Given the description of an element on the screen output the (x, y) to click on. 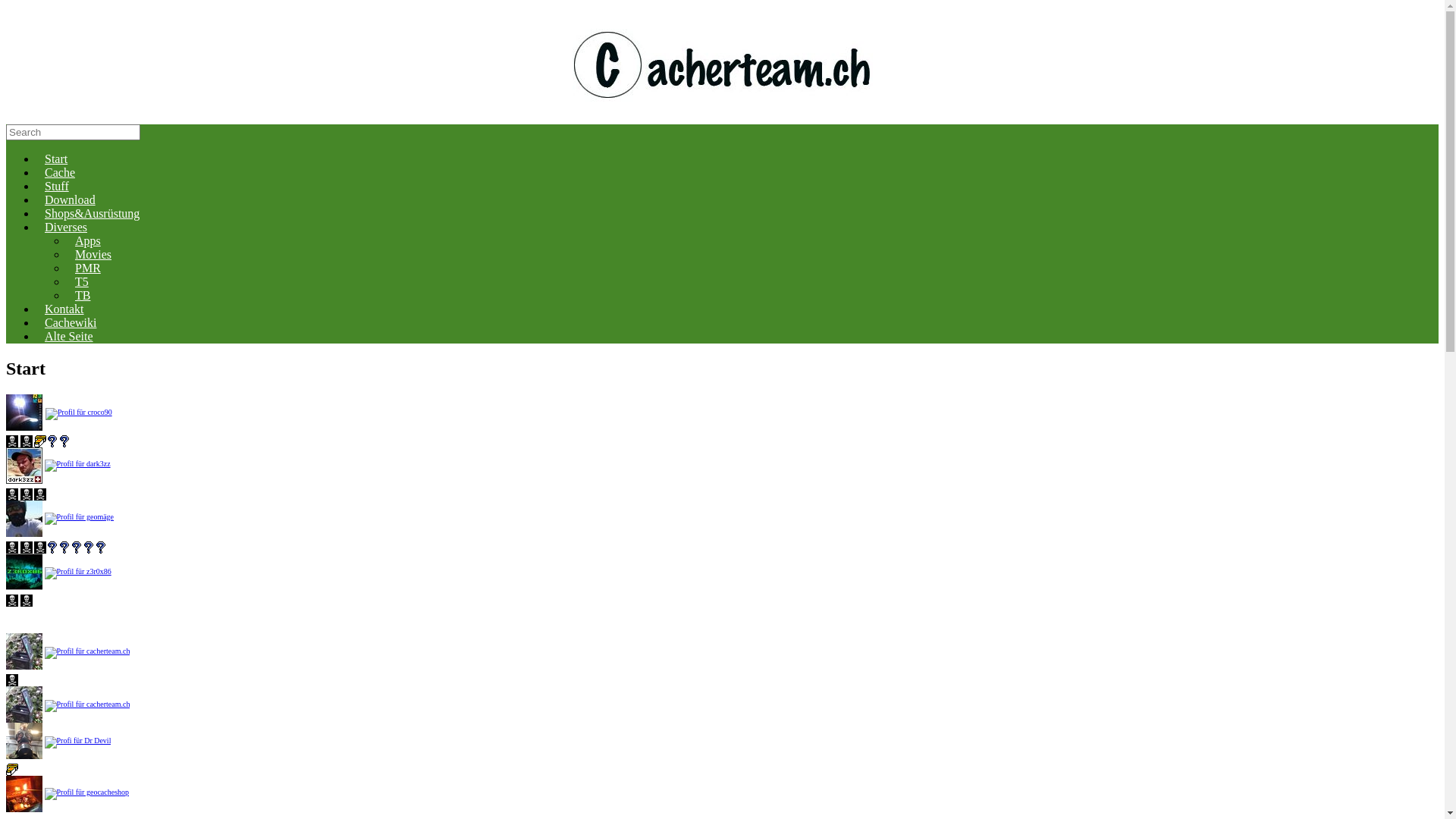
GC101WX - 100 MoCaches Bonus-Cache Element type: hover (76, 547)
SWISS-MONOPOLY Karten Element type: hover (100, 547)
GC42C0Z - Master of Mystery #16 Zurich Element type: hover (64, 547)
GC2KDXE - GURDS - Gebt Uns Ruhig Die Schuld! (Nachtcache) Element type: hover (12, 680)
GC240G7 - The Casematte - 30m Abseiler Element type: hover (40, 494)
Download Element type: text (69, 199)
GC240G7 - The Casematte - 30m Abseiler Element type: hover (25, 441)
Kontakt Element type: text (64, 308)
GC3X918 - Swiss-American Offset Cache Element type: hover (40, 441)
GC2KDXE - GURDS - Gebt Uns Ruhig Die Schuld! (Nachtcache) Element type: hover (25, 600)
GC2KDXE - GURDS - Gebt Uns Ruhig Die Schuld! (Nachtcache) Element type: hover (25, 547)
Apps Element type: text (87, 240)
croco90 Element type: hover (24, 412)
GC240G7 - The Casematte - 30m Abseiler Element type: hover (40, 547)
GC2KDXE - GURDS - Gebt Uns Ruhig Die Schuld! (Nachtcache) Element type: hover (25, 494)
Diverses Element type: text (65, 226)
SWISS-MONOPOLY Cache Element type: hover (88, 547)
GC369P0 - Challenge: Alle Kantone der Schweiz Element type: hover (52, 547)
Stuff Element type: text (56, 185)
TB Element type: text (82, 294)
Start Element type: text (55, 158)
SWISS-MONOPOLY Karten Element type: hover (64, 441)
Cachewiki Element type: text (70, 322)
SWISS-MONOPOLY Cache Element type: hover (52, 441)
Cache Element type: text (59, 172)
T5 Element type: text (81, 281)
GC3X918 - Swiss-American Offset Cache Element type: hover (12, 769)
cacherteam.ch Element type: hover (722, 64)
PMR Element type: text (87, 267)
Movies Element type: text (92, 253)
Alte Seite Element type: text (68, 335)
